Given the description of an element on the screen output the (x, y) to click on. 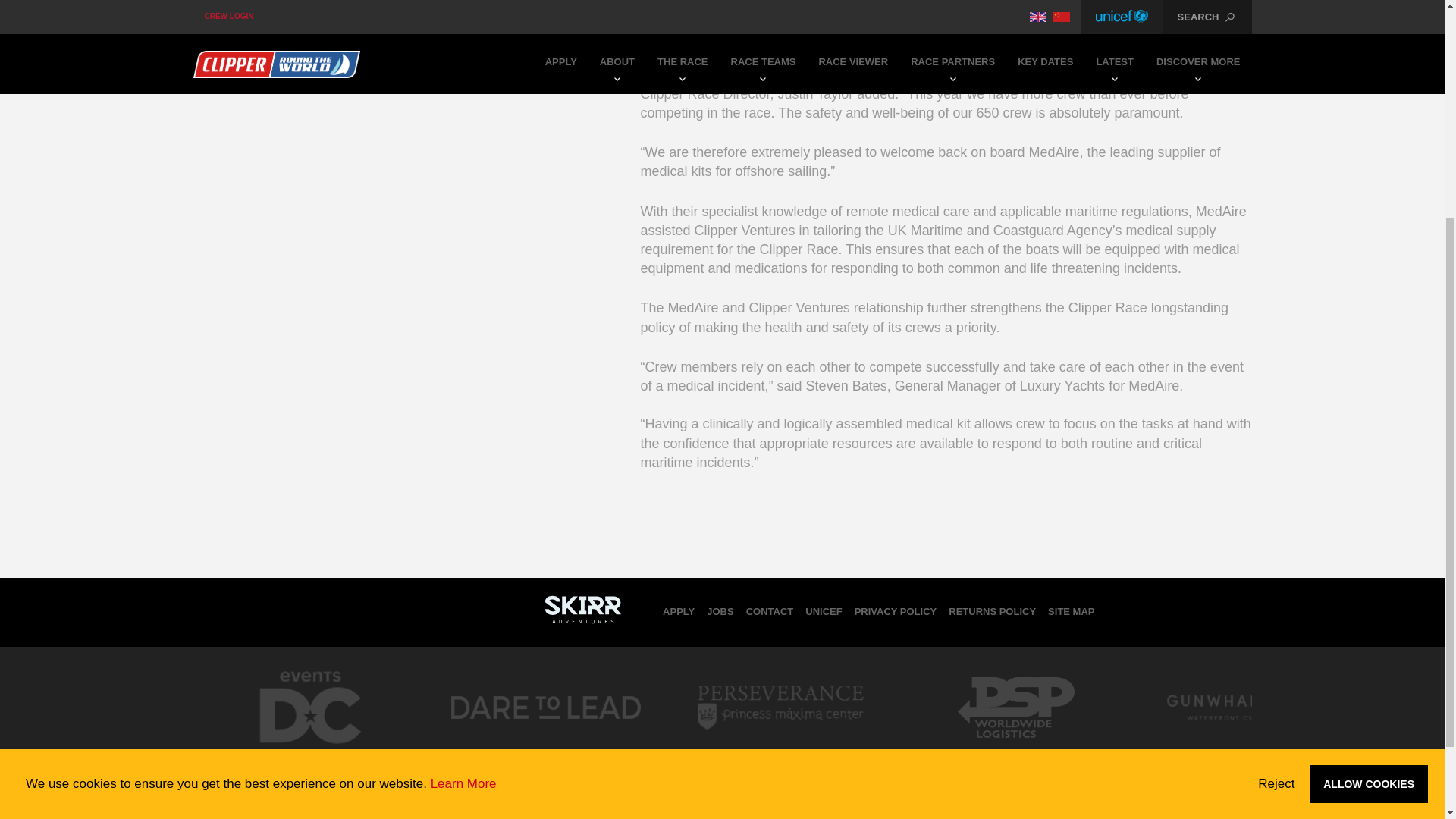
Events DC (309, 757)
Perseverance (780, 751)
Gunwharf Quays (1250, 751)
Dare To Lead (544, 751)
PSP Logistics (1014, 751)
